Given the description of an element on the screen output the (x, y) to click on. 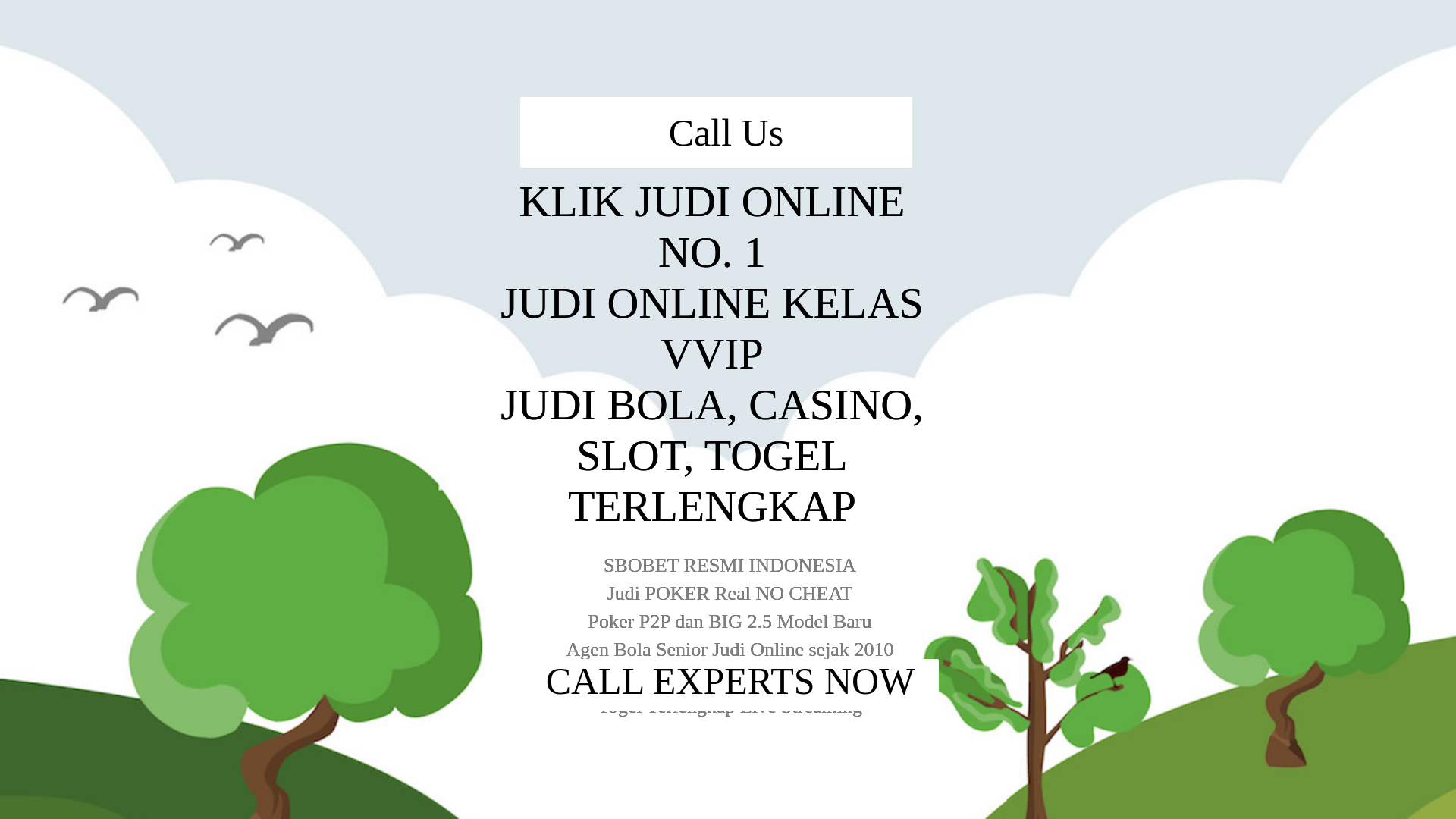
Call Us (1133, 32)
Agen Bola Senior Judi Online sejak 2010 (727, 461)
KOLAMHOKI.COM (397, 25)
SBOBET RESMI INDONESIA (727, 385)
Togel Terlengkap Live Streaming (727, 511)
Judi Online Kelas VVIP (727, 308)
Judi POKER Real NO CHEAT (726, 411)
Call Us (727, 568)
ibosport alternatif (697, 249)
KLIK JUDI ONLINE No. 1 (727, 276)
Poker P2P dan BIG 2.5 Model Baru (728, 435)
Judi Bola, Casino, Slot, Togel Terlengkap (727, 341)
